Given the description of an element on the screen output the (x, y) to click on. 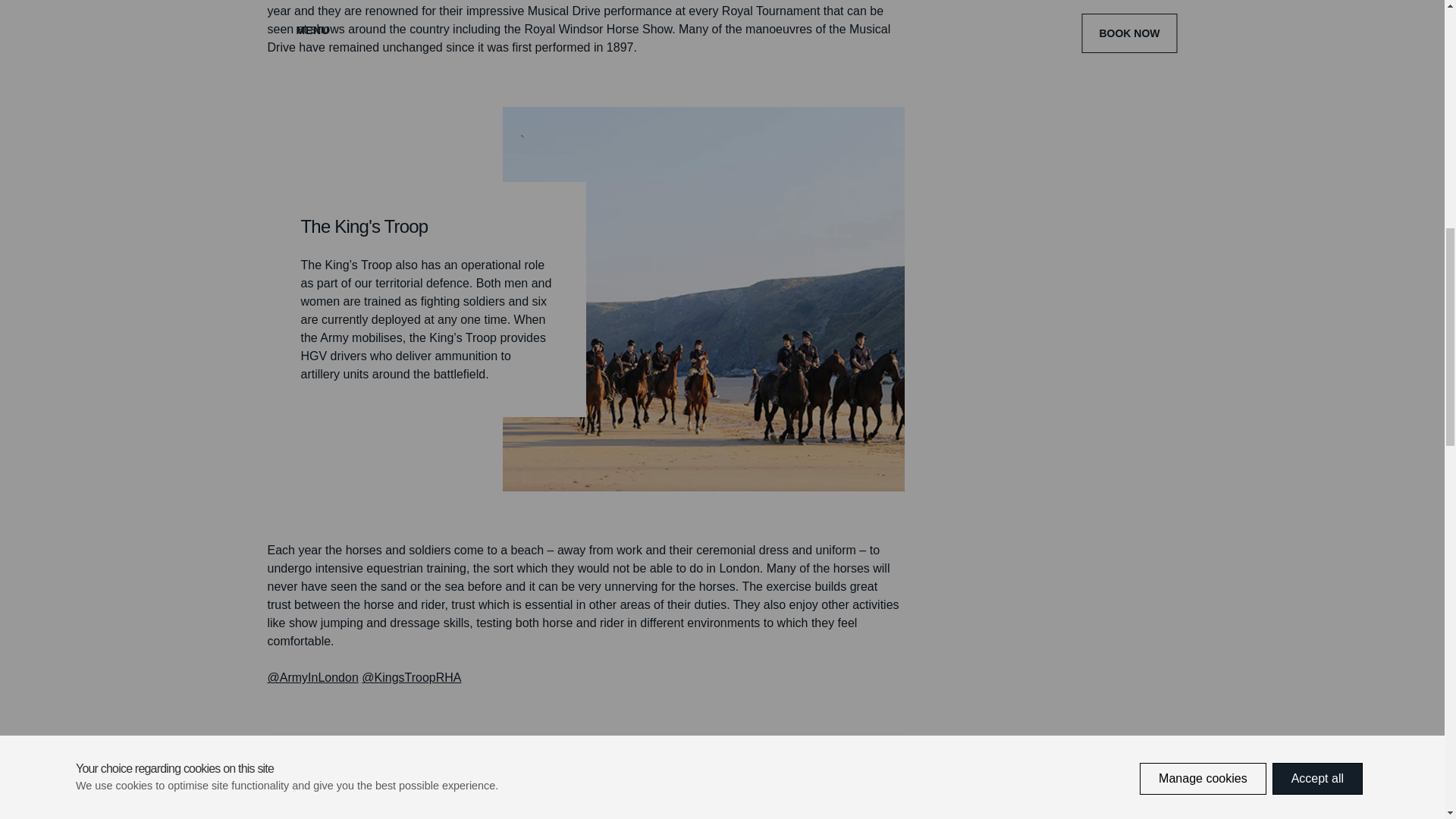
Manage cookies (1203, 2)
Visit website (411, 676)
Visit website (312, 676)
Accept all (1317, 31)
